Given the description of an element on the screen output the (x, y) to click on. 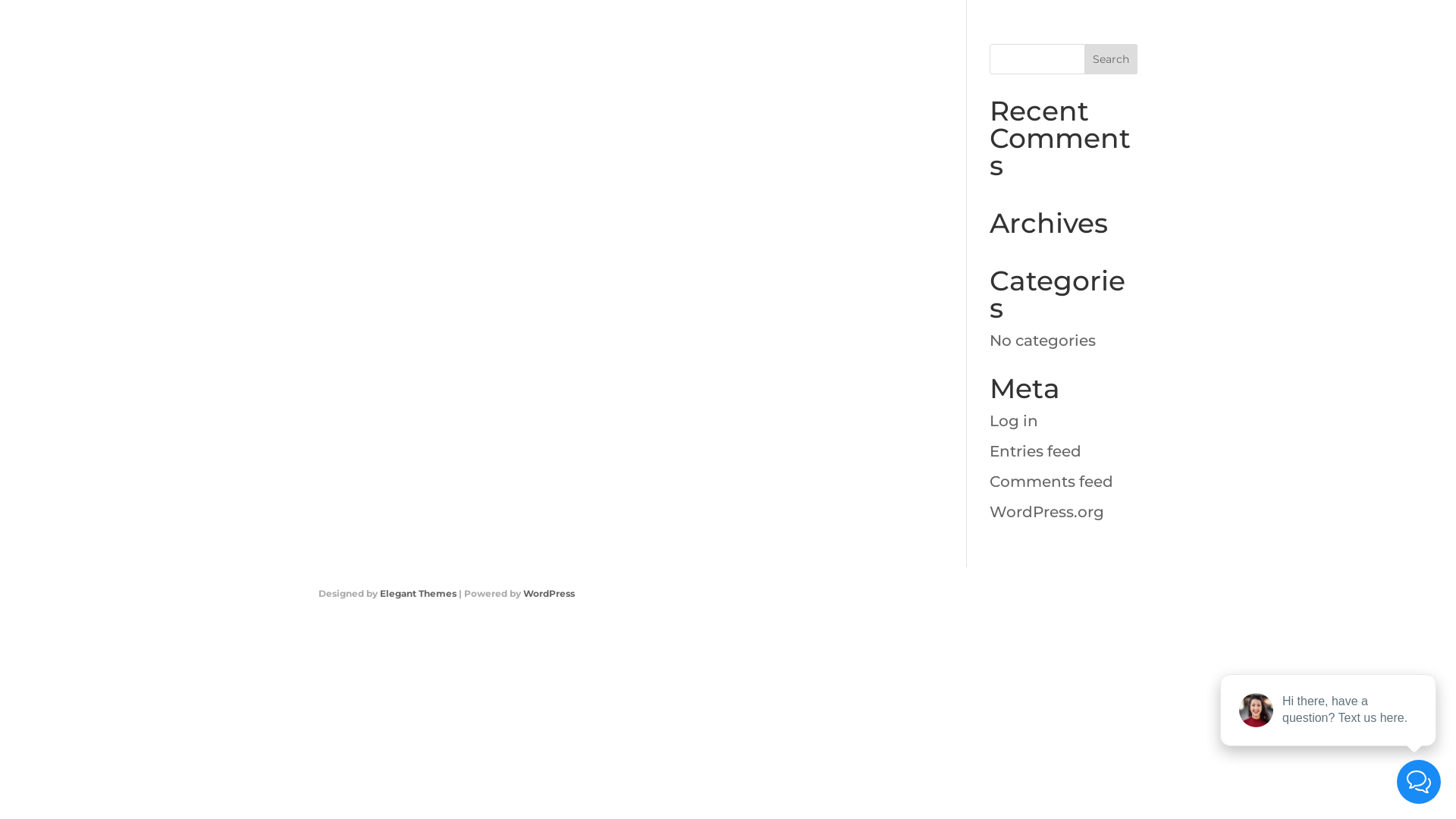
Elegant Themes Element type: text (417, 593)
Search Element type: text (1110, 58)
Entries feed Element type: text (1035, 451)
Log in Element type: text (1013, 420)
WordPress Element type: text (548, 593)
Comments feed Element type: text (1051, 481)
WordPress.org Element type: text (1046, 511)
